Given the description of an element on the screen output the (x, y) to click on. 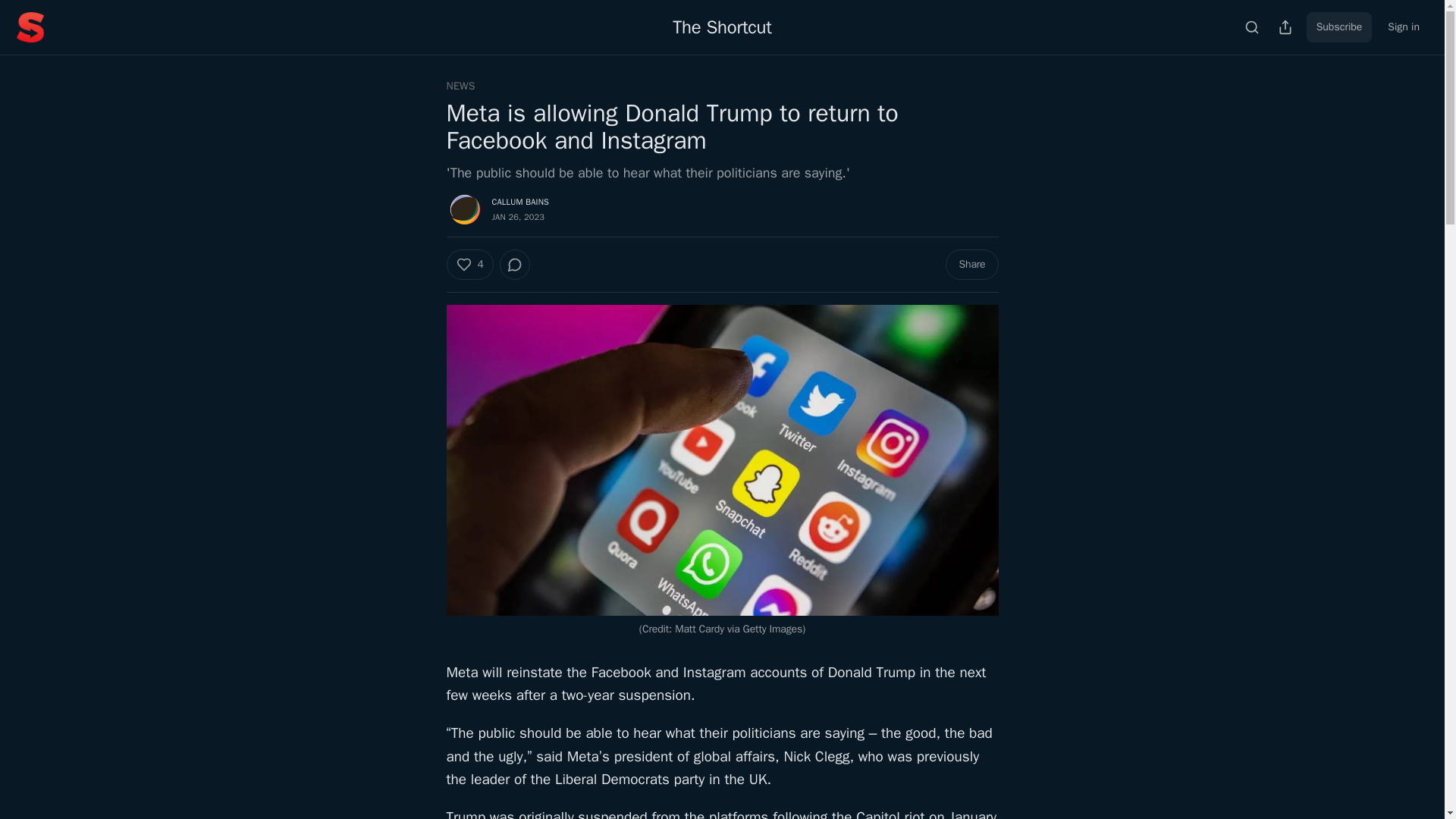
NEWS (459, 86)
Sign in (1403, 27)
The Shortcut (721, 26)
4 (469, 264)
CALLUM BAINS (520, 201)
Subscribe (1339, 27)
Share (970, 264)
